Given the description of an element on the screen output the (x, y) to click on. 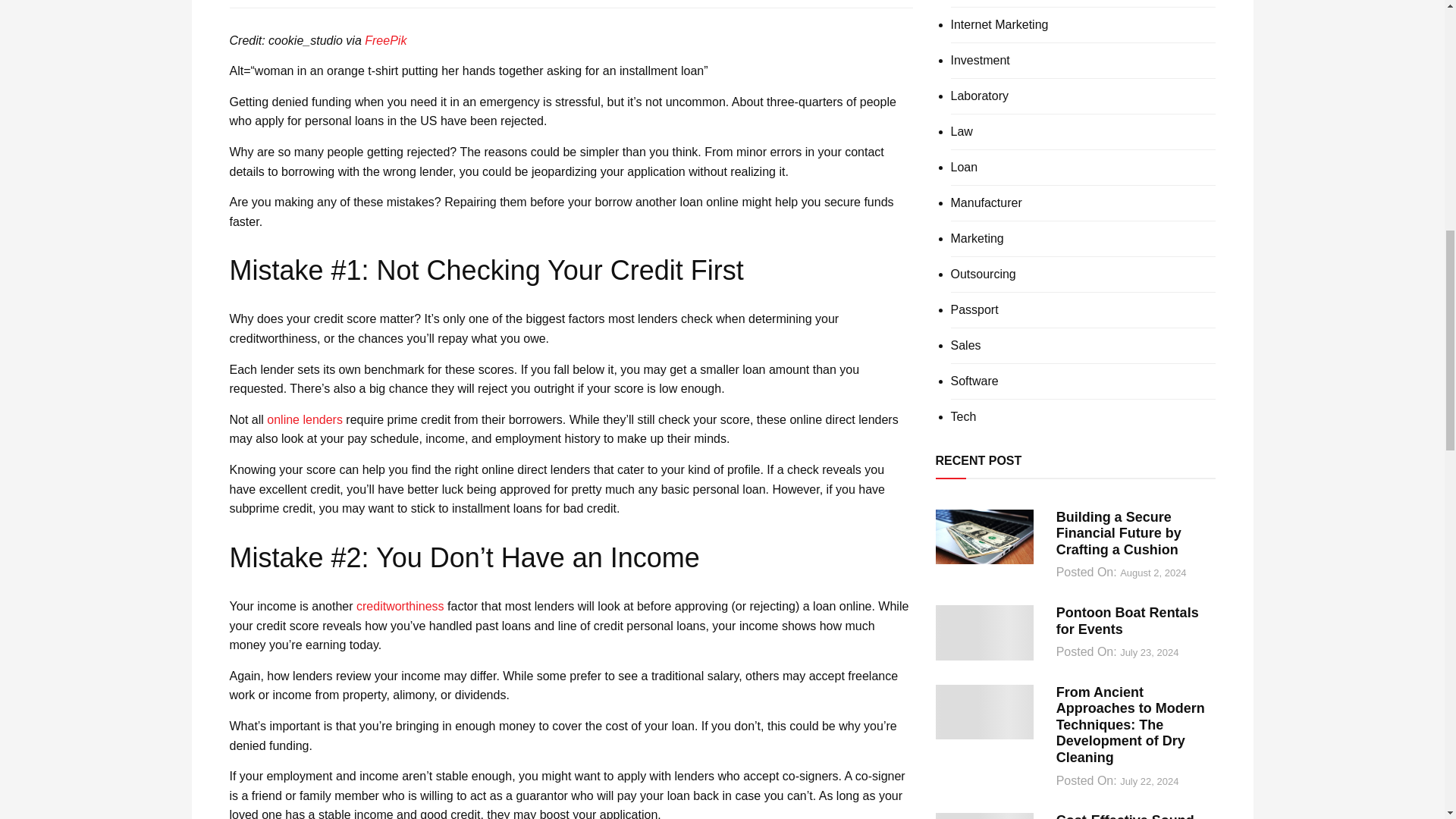
Laboratory (979, 96)
Law (961, 132)
FreePik (385, 40)
Investment (980, 60)
creditworthiness (400, 605)
online lenders (304, 419)
Internet Marketing (999, 24)
